Given the description of an element on the screen output the (x, y) to click on. 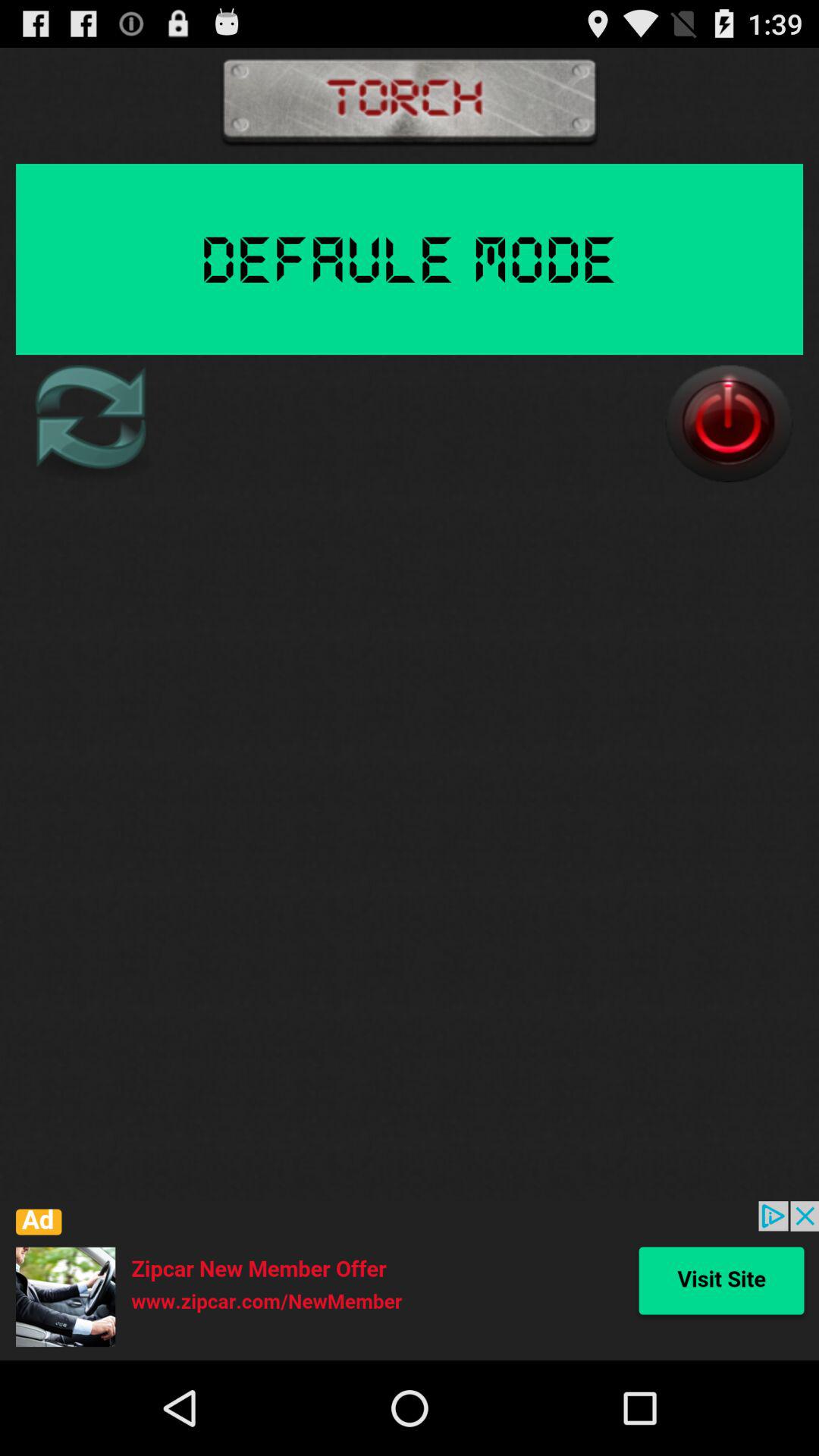
power (728, 423)
